Given the description of an element on the screen output the (x, y) to click on. 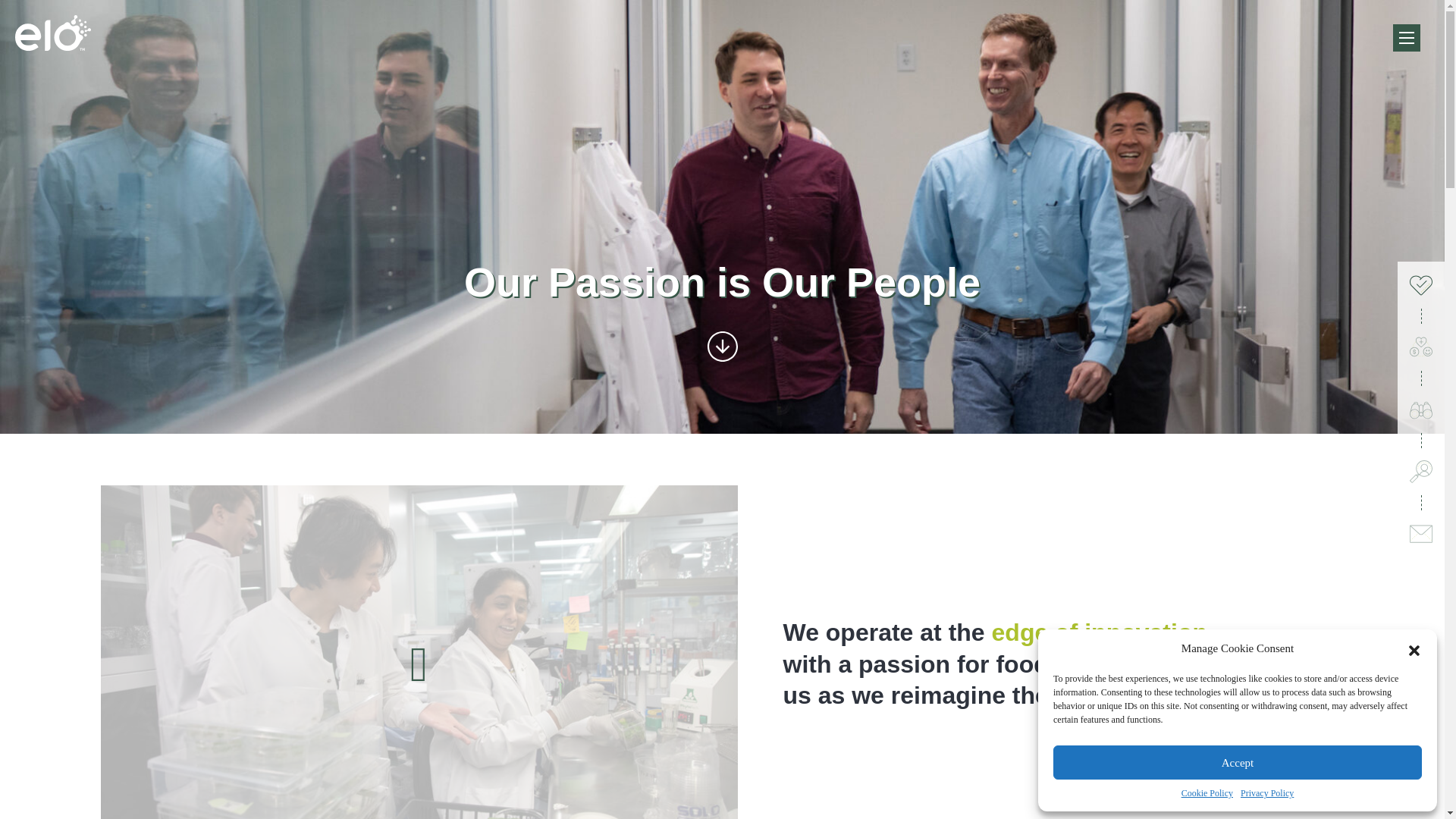
Accept (1237, 762)
Privacy Policy (1267, 793)
Cookie Policy (1206, 793)
